Given the description of an element on the screen output the (x, y) to click on. 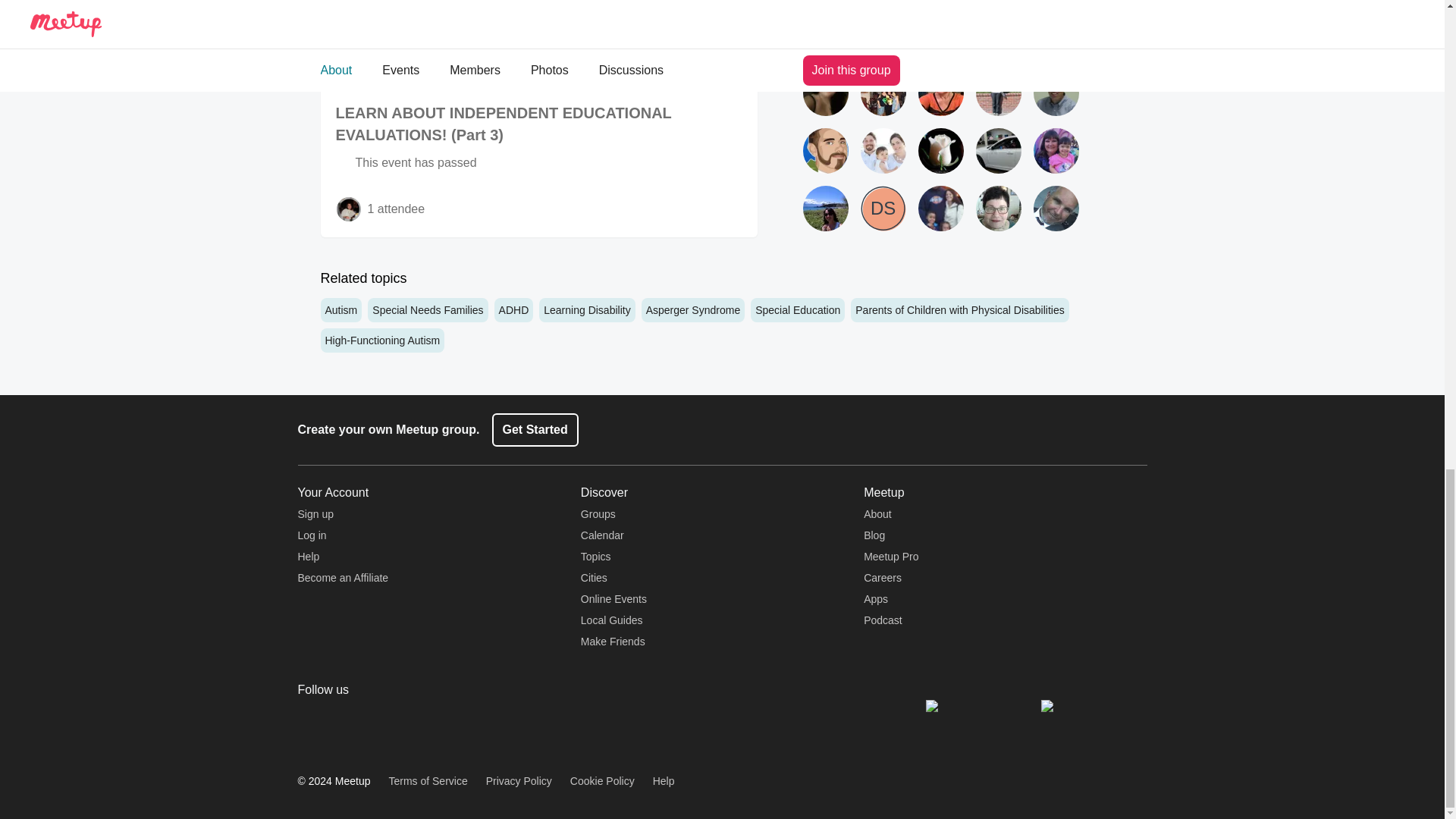
Asperger Syndrome (693, 310)
Autism (340, 310)
Special Education (797, 310)
Parents of Children with Physical Disabilities (959, 310)
Special Needs Families (427, 310)
Learning Disability (586, 310)
High-Functioning Autism (382, 340)
Get Started (535, 429)
ADHD (514, 310)
